Given the description of an element on the screen output the (x, y) to click on. 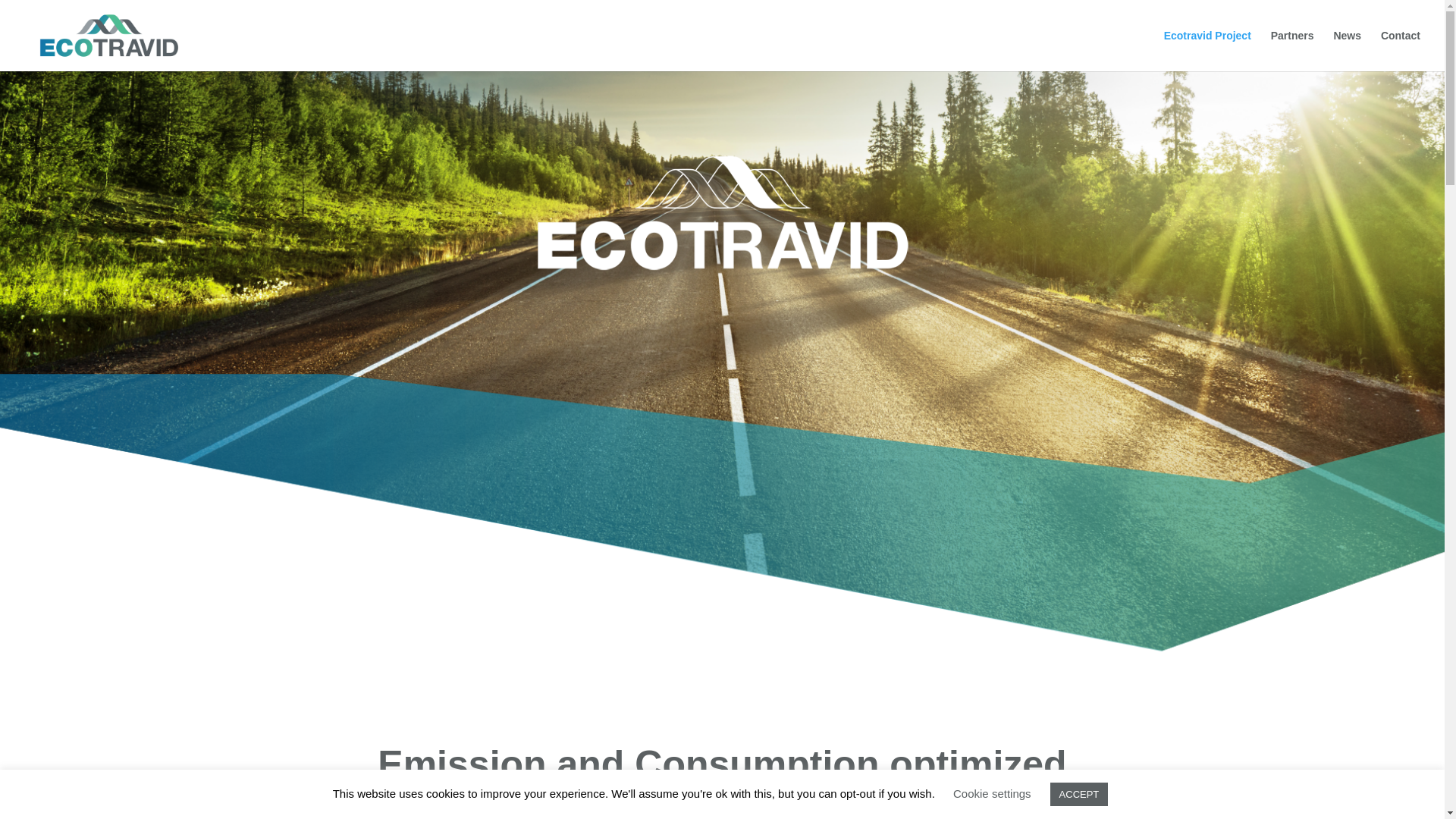
Partners (1292, 50)
Contact (1400, 50)
Ecotravid Project (1206, 50)
ACCEPT (1078, 793)
Cookie settings (991, 793)
